Given the description of an element on the screen output the (x, y) to click on. 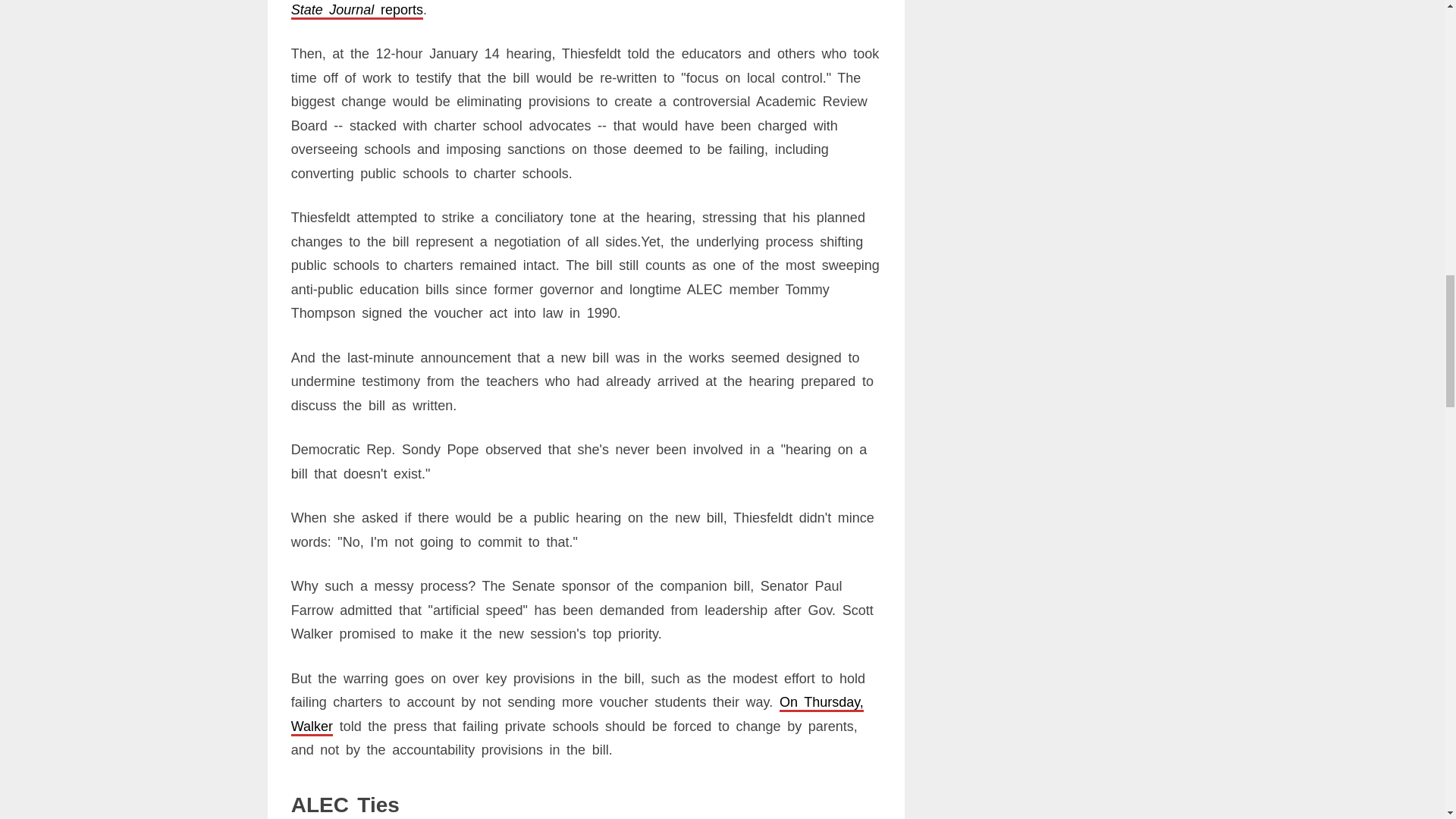
On Thursday, Walker (577, 713)
Wisconsin State Journal reports (575, 8)
